Given the description of an element on the screen output the (x, y) to click on. 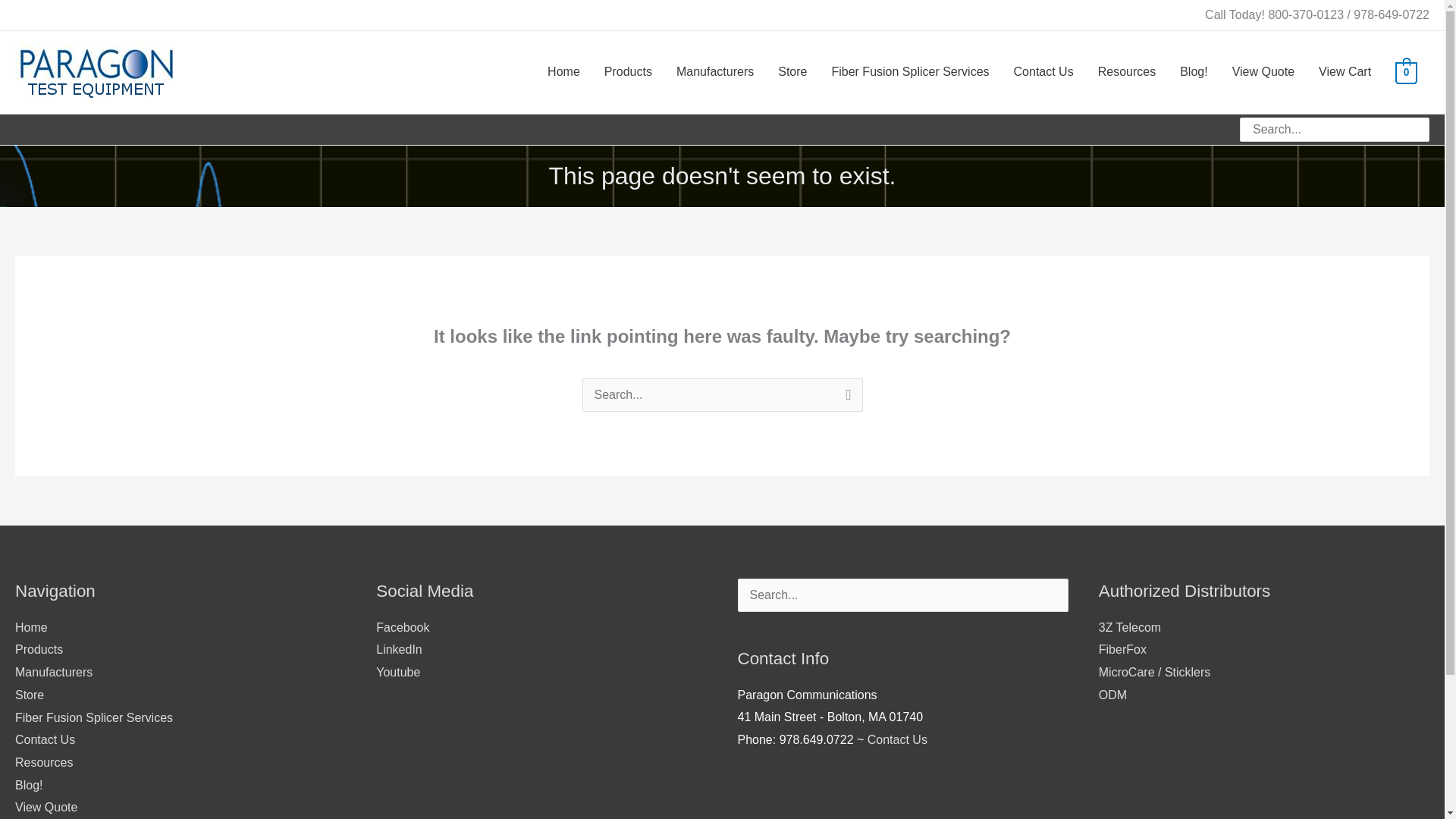
Contact Us (897, 739)
Contact Us (1043, 72)
Products (38, 649)
Contact Us (44, 739)
Home (563, 72)
View Quote (1263, 72)
Resources (1126, 72)
Manufacturers (53, 671)
Youtube (397, 671)
FiberFox (1123, 649)
